Given the description of an element on the screen output the (x, y) to click on. 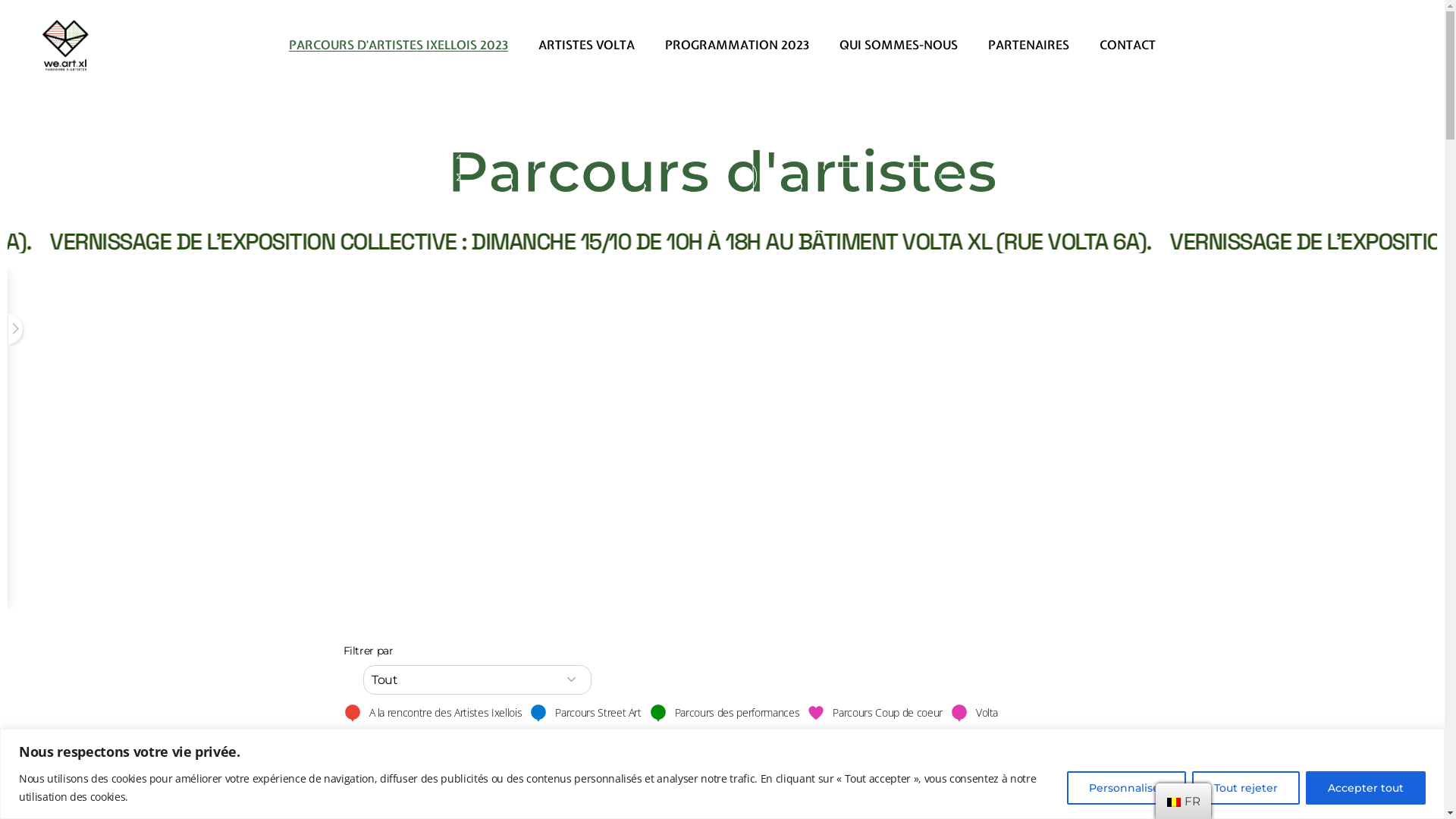
QUI SOMMES-NOUS Element type: text (898, 45)
ARTISTES VOLTA Element type: text (586, 45)
Tout rejeter Element type: text (1245, 786)
PARTENAIRES Element type: text (1028, 45)
Personnaliser Element type: text (1126, 786)
CONTACT Element type: text (1127, 45)
CARTE 2023 Element type: text (721, 780)
Accepter tout Element type: text (1365, 786)
PROGRAMMATION 2023 Element type: text (737, 45)
